Given the description of an element on the screen output the (x, y) to click on. 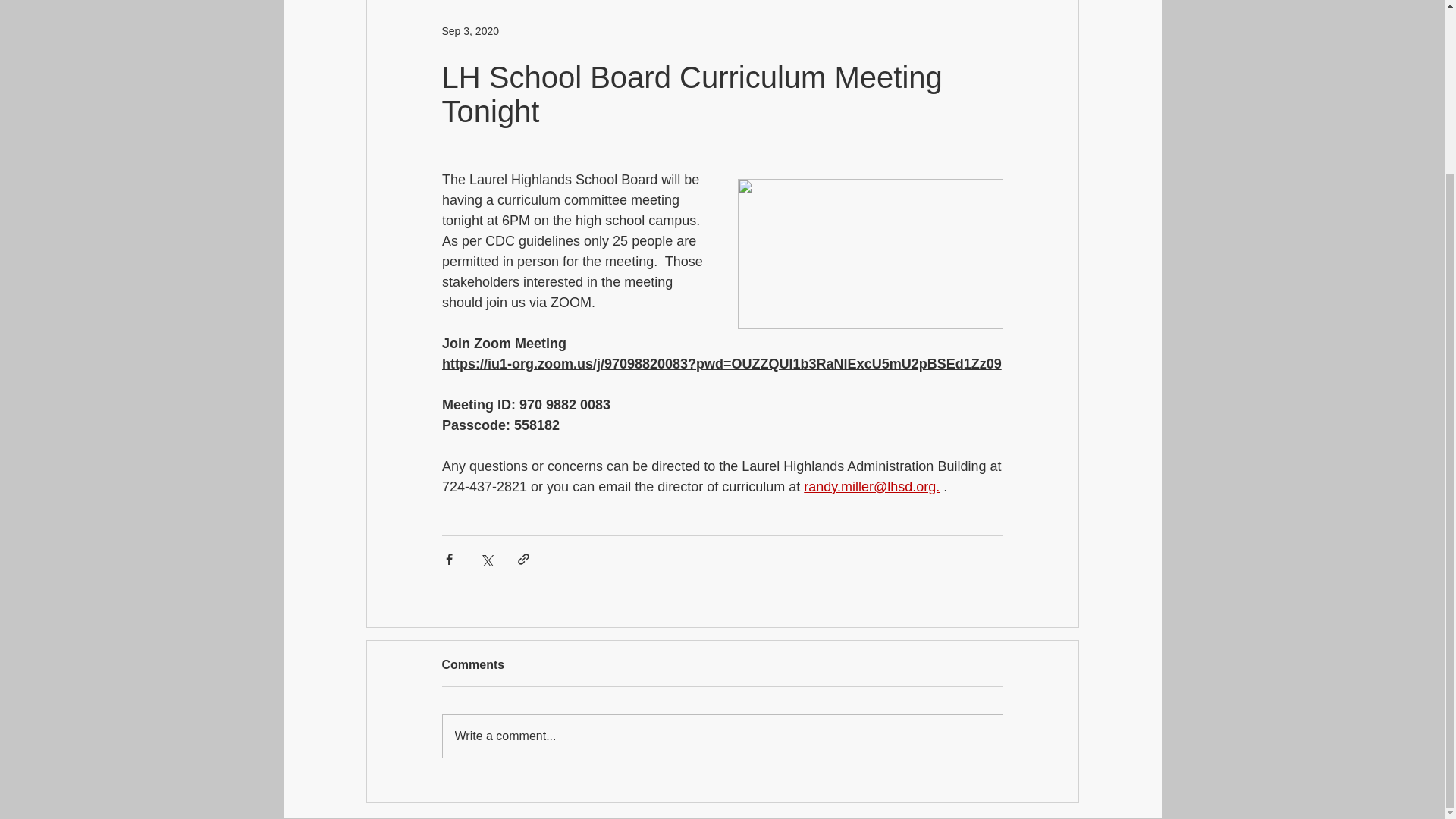
Sep 3, 2020 (470, 30)
